Given the description of an element on the screen output the (x, y) to click on. 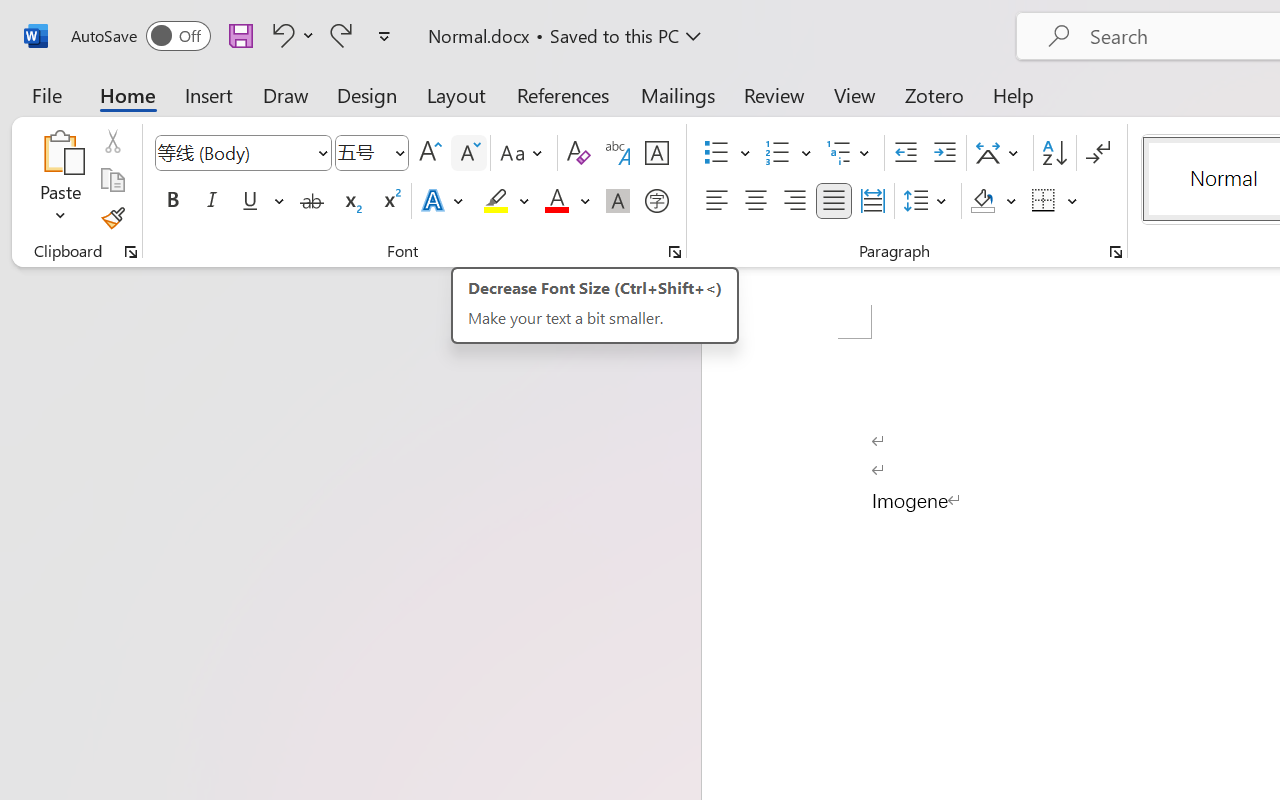
Line and Paragraph Spacing (927, 201)
Superscript (390, 201)
